Given the description of an element on the screen output the (x, y) to click on. 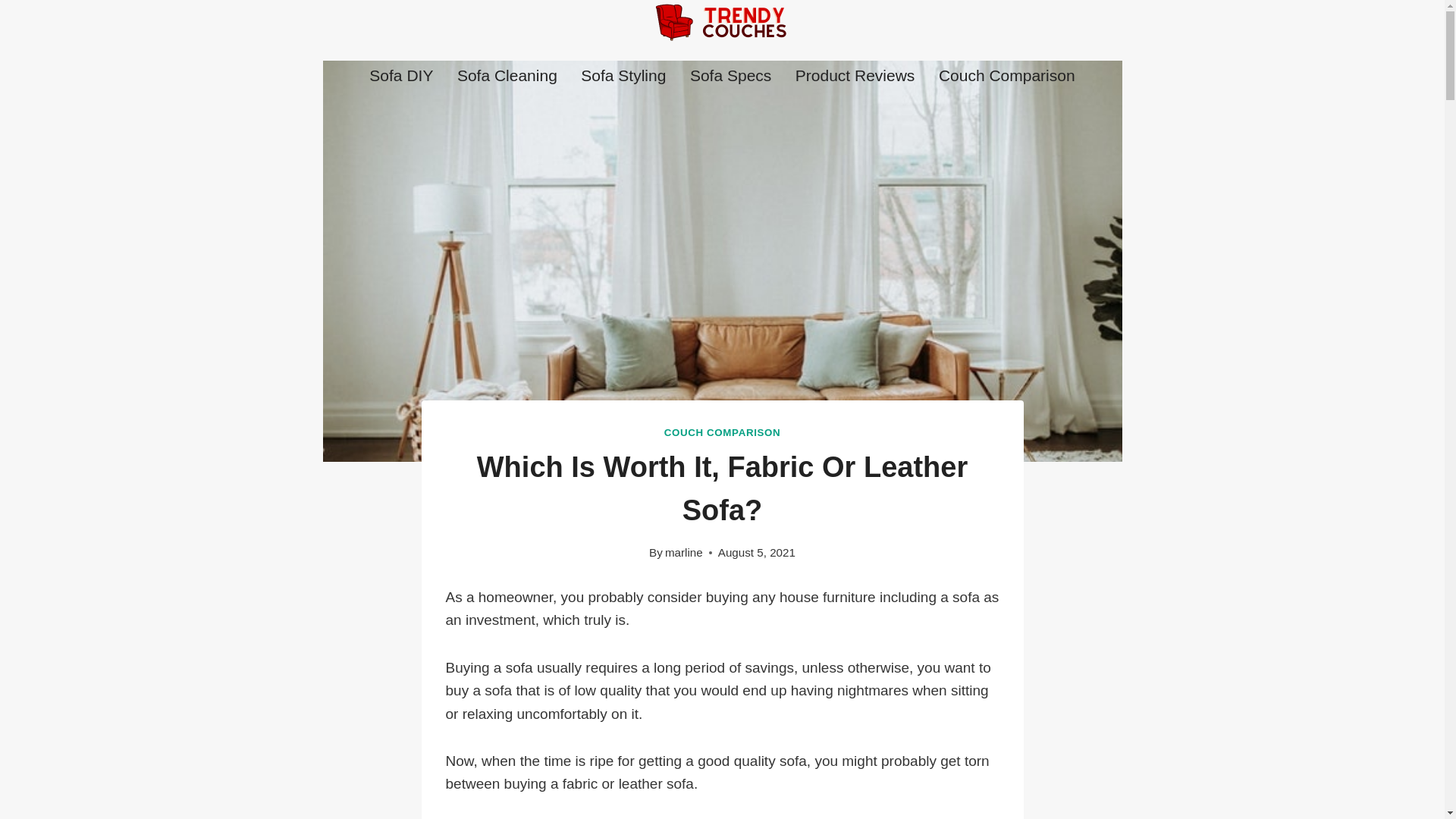
COUCH COMPARISON (721, 432)
marline (684, 552)
Sofa Cleaning (507, 76)
Sofa Styling (623, 76)
Product Reviews (854, 76)
Couch Comparison (1006, 76)
Sofa Specs (730, 76)
Sofa DIY (401, 76)
